Given the description of an element on the screen output the (x, y) to click on. 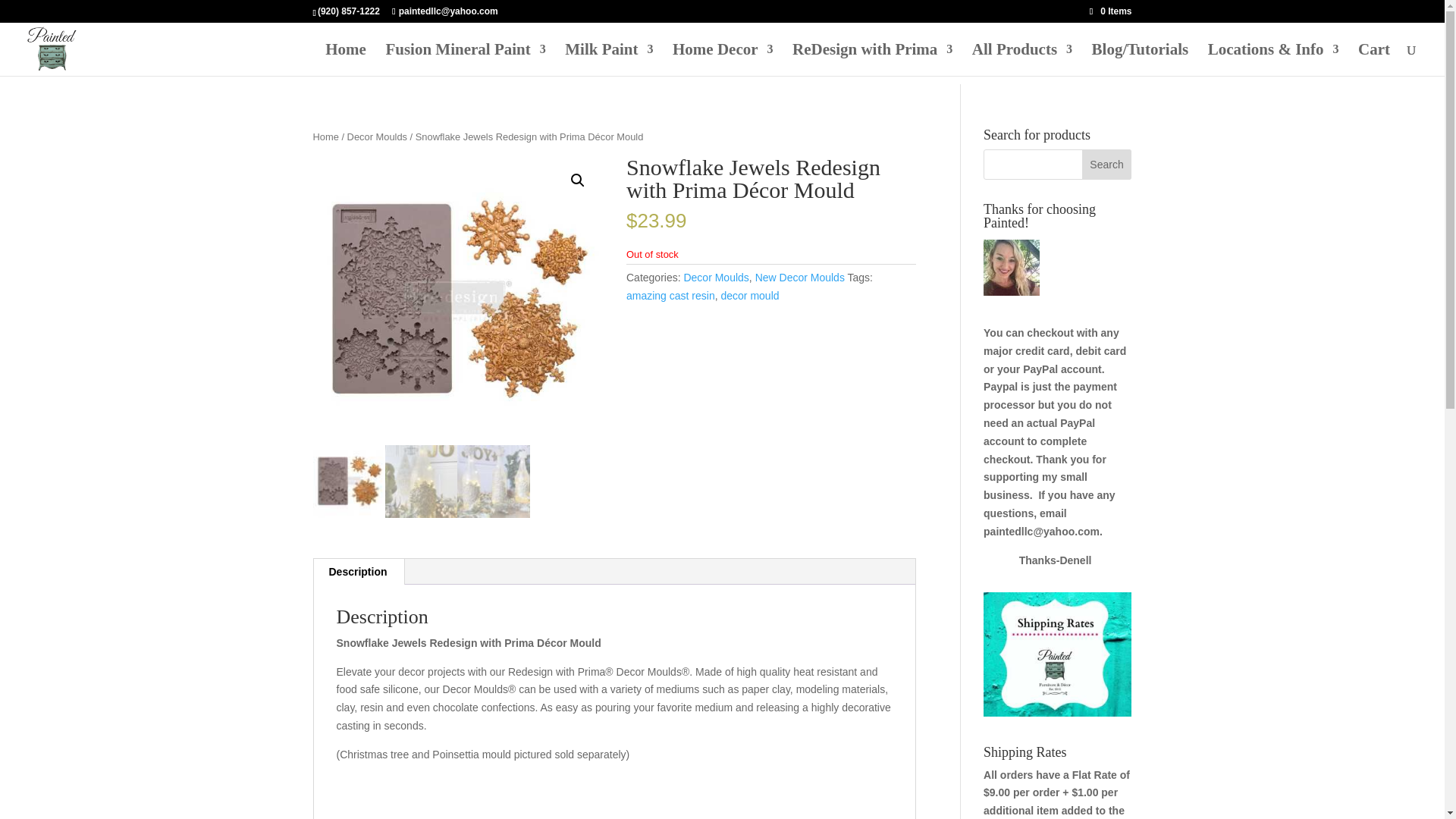
0 Items (1110, 10)
snowflake jewels mould redesign with prima (457, 300)
Home Decor (722, 60)
All Products (1021, 60)
Fusion Mineral Paint (464, 60)
Contact Painted (1273, 60)
Milk Paint (608, 60)
Home all about Painted (345, 60)
Home (345, 60)
ReDesign with Prima (872, 60)
